Given the description of an element on the screen output the (x, y) to click on. 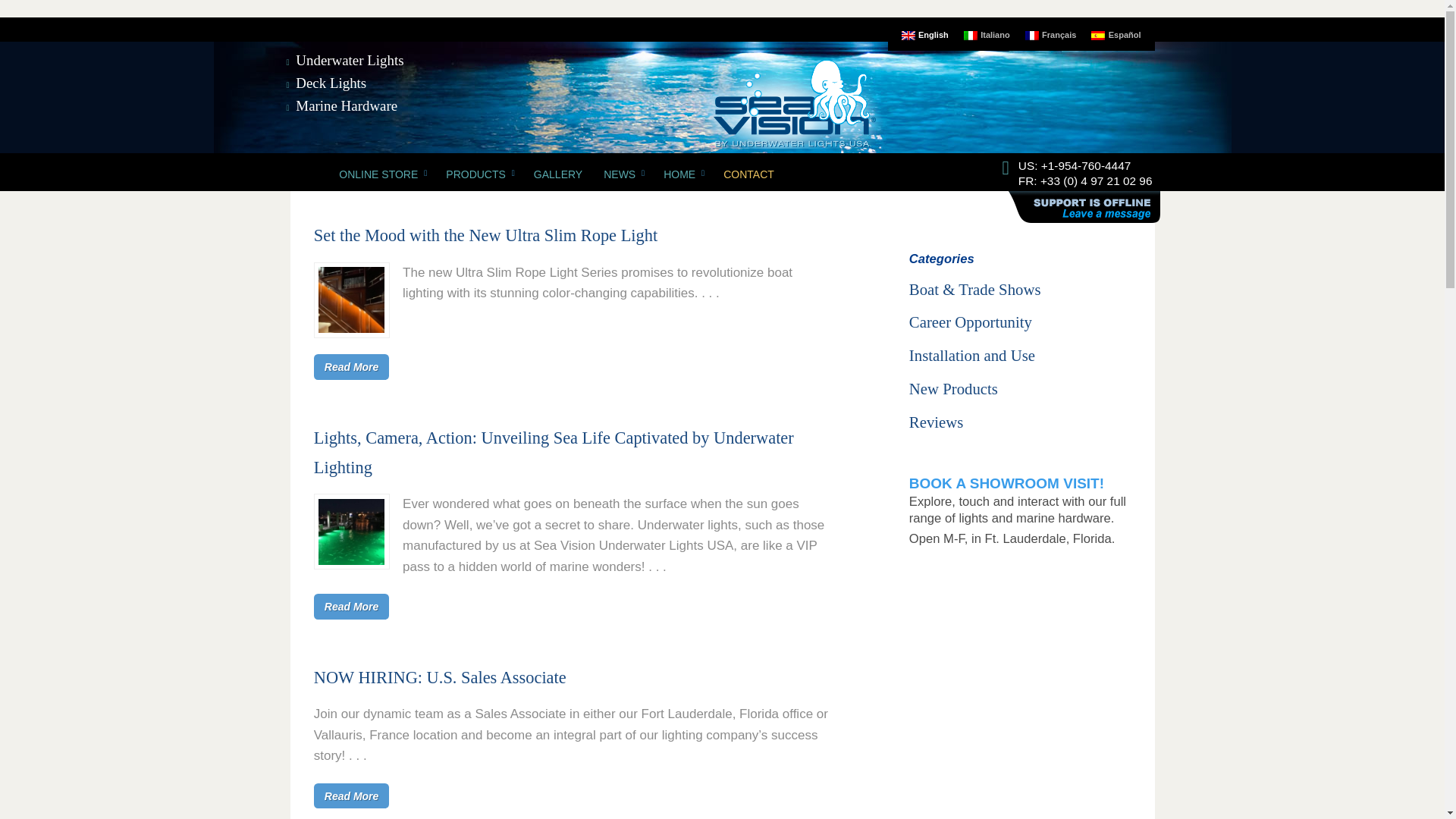
HOME (682, 174)
Read More (352, 366)
GALLERY (557, 174)
Marine Hardware (346, 105)
CONTACT (748, 174)
Continue Reading (352, 795)
Italiano (986, 36)
NOW HIRING: U.S. Sales Associate (440, 676)
Continue Reading (352, 366)
NEWS (622, 174)
English (924, 36)
